Given the description of an element on the screen output the (x, y) to click on. 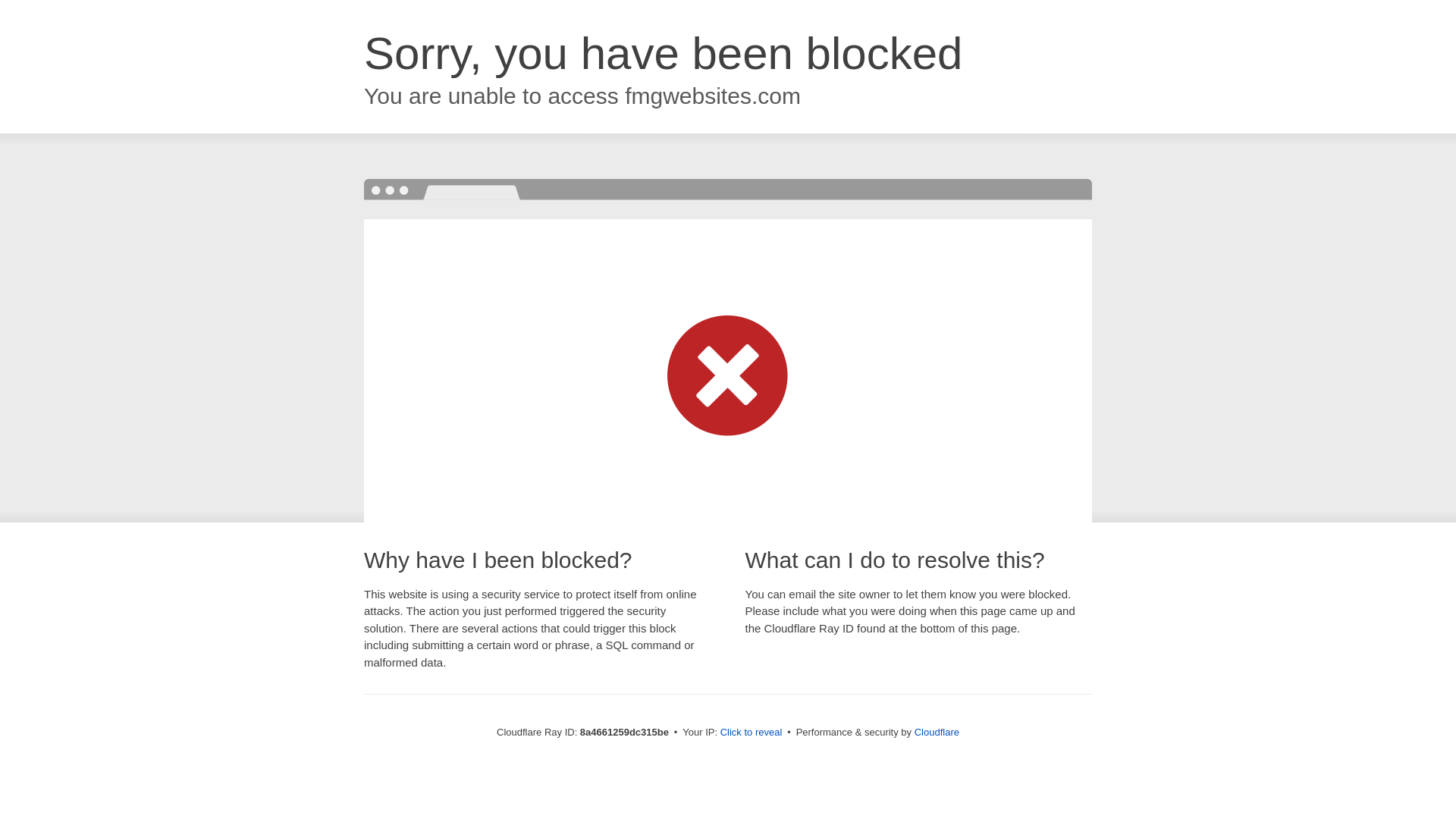
Cloudflare (936, 731)
Click to reveal (751, 732)
